Given the description of an element on the screen output the (x, y) to click on. 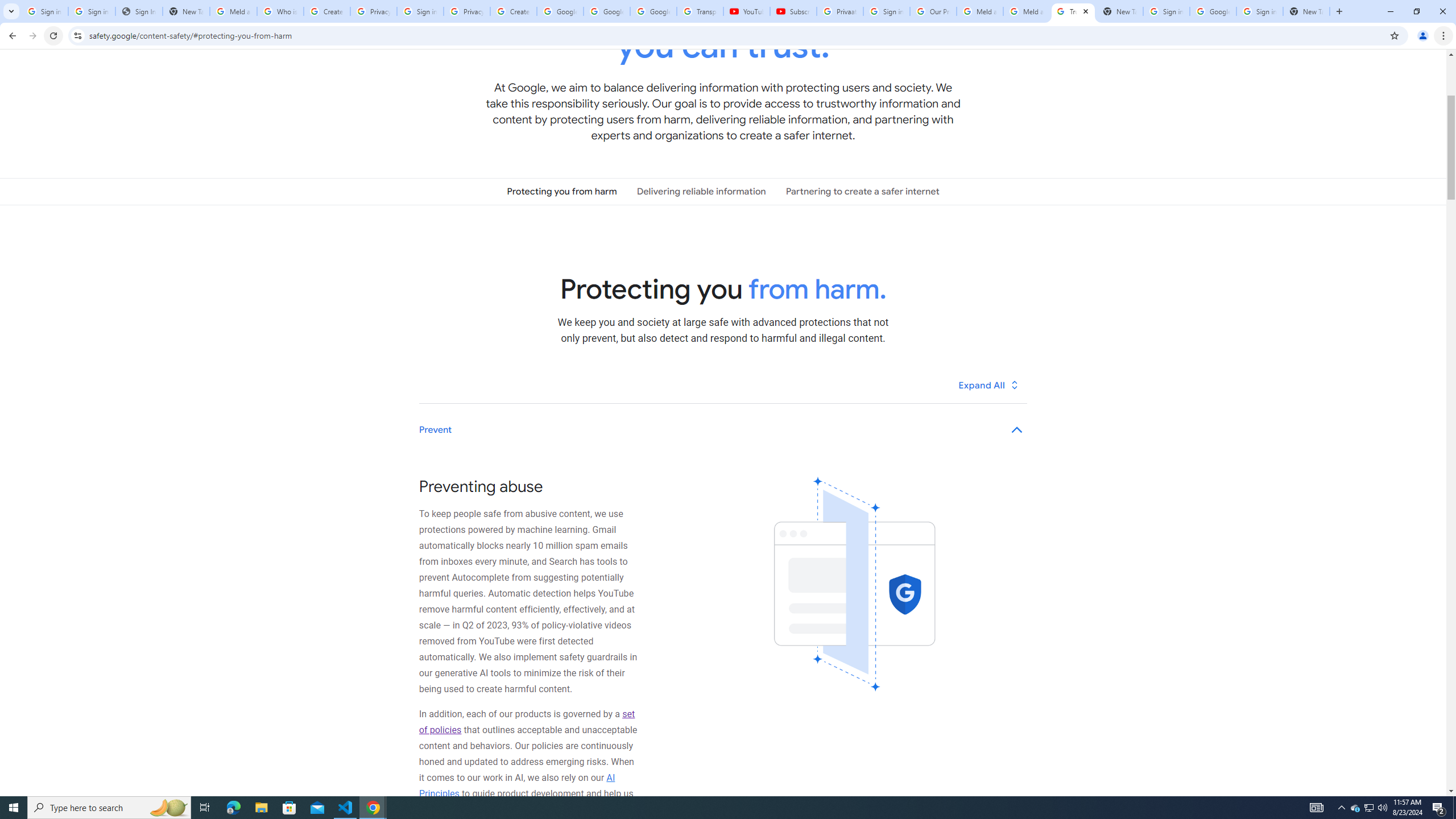
Sign in - Google Accounts (419, 11)
Who is my administrator? - Google Account Help (279, 11)
